Given the description of an element on the screen output the (x, y) to click on. 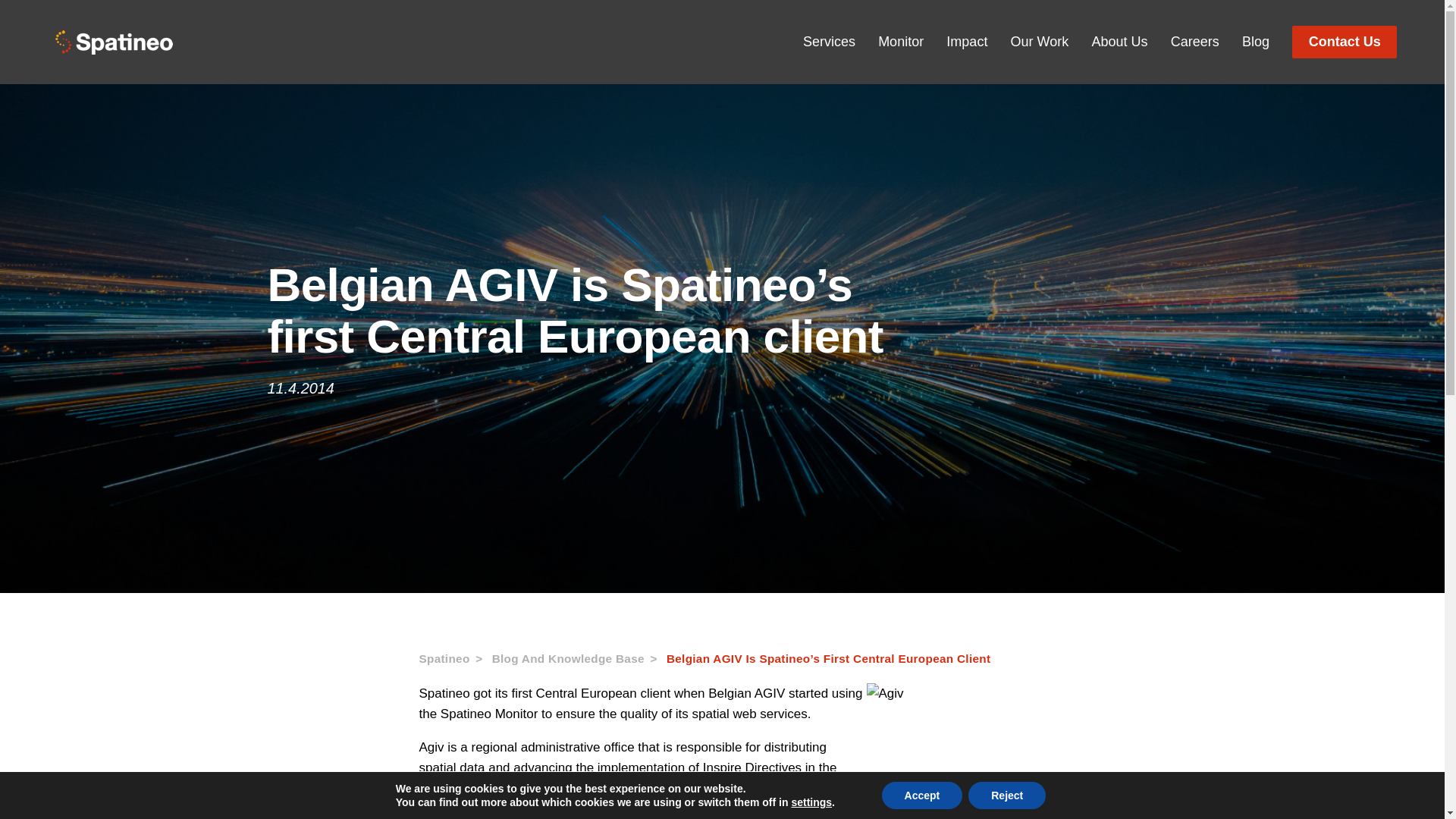
Monitor (900, 41)
Careers (1195, 41)
Contact Us (1344, 41)
Spatineo (455, 659)
About Us (1118, 41)
etusivulle (113, 42)
Services (829, 41)
Our Work (1039, 41)
Blog (1255, 41)
Impact (966, 41)
Blog And Knowledge Base (579, 659)
